Given the description of an element on the screen output the (x, y) to click on. 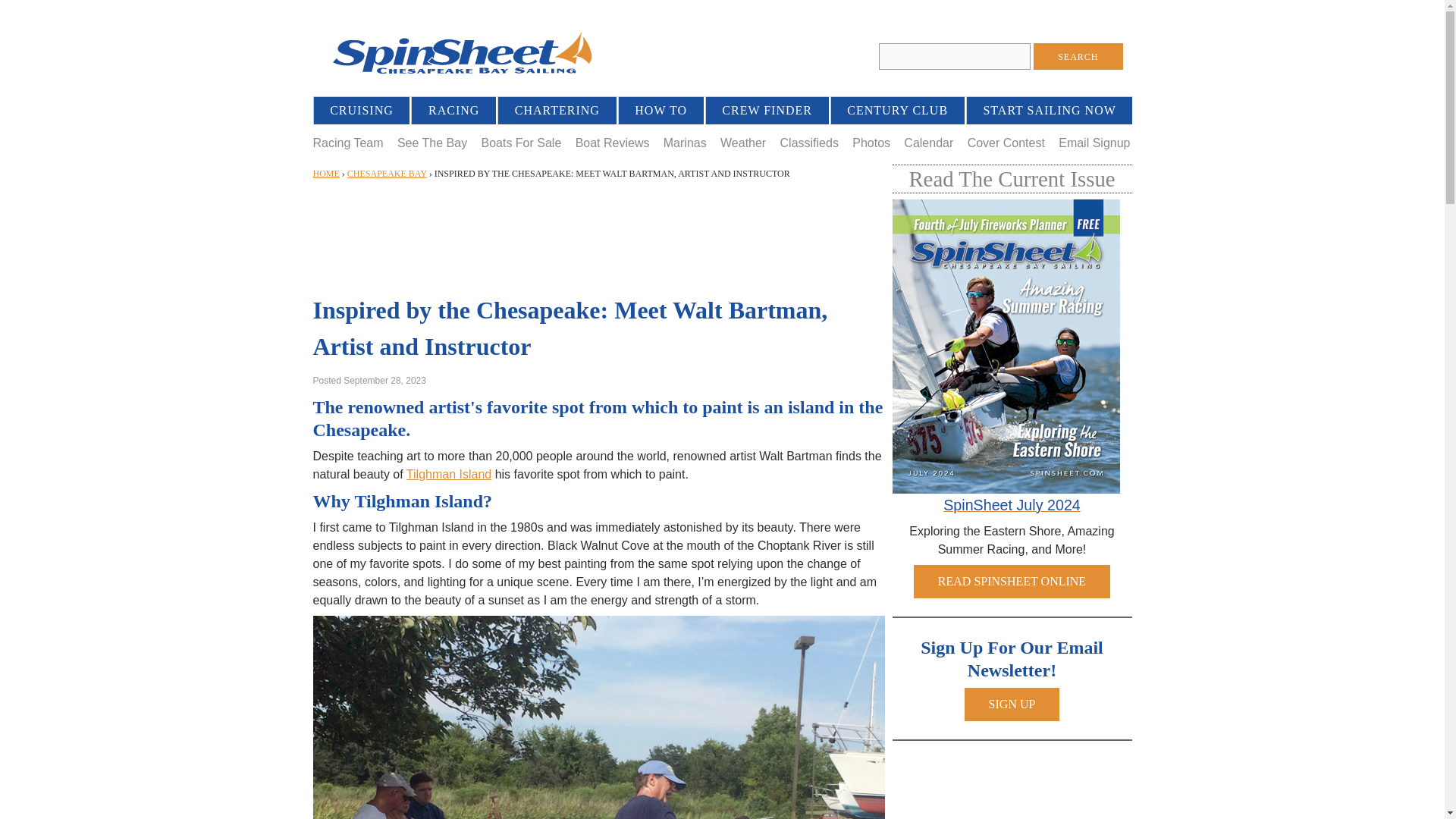
Racing Team (347, 143)
Marinas (684, 143)
Search (1077, 56)
Classifieds (809, 143)
CHESAPEAKE BAY (386, 173)
Email Signup (1093, 143)
HOW TO (660, 110)
Boats For Sale (520, 143)
SIGN UP (1011, 703)
CRUISING (362, 110)
Photos (870, 143)
SpinSheet July 2024 (1011, 505)
Search (1077, 56)
HOME (326, 173)
